Given the description of an element on the screen output the (x, y) to click on. 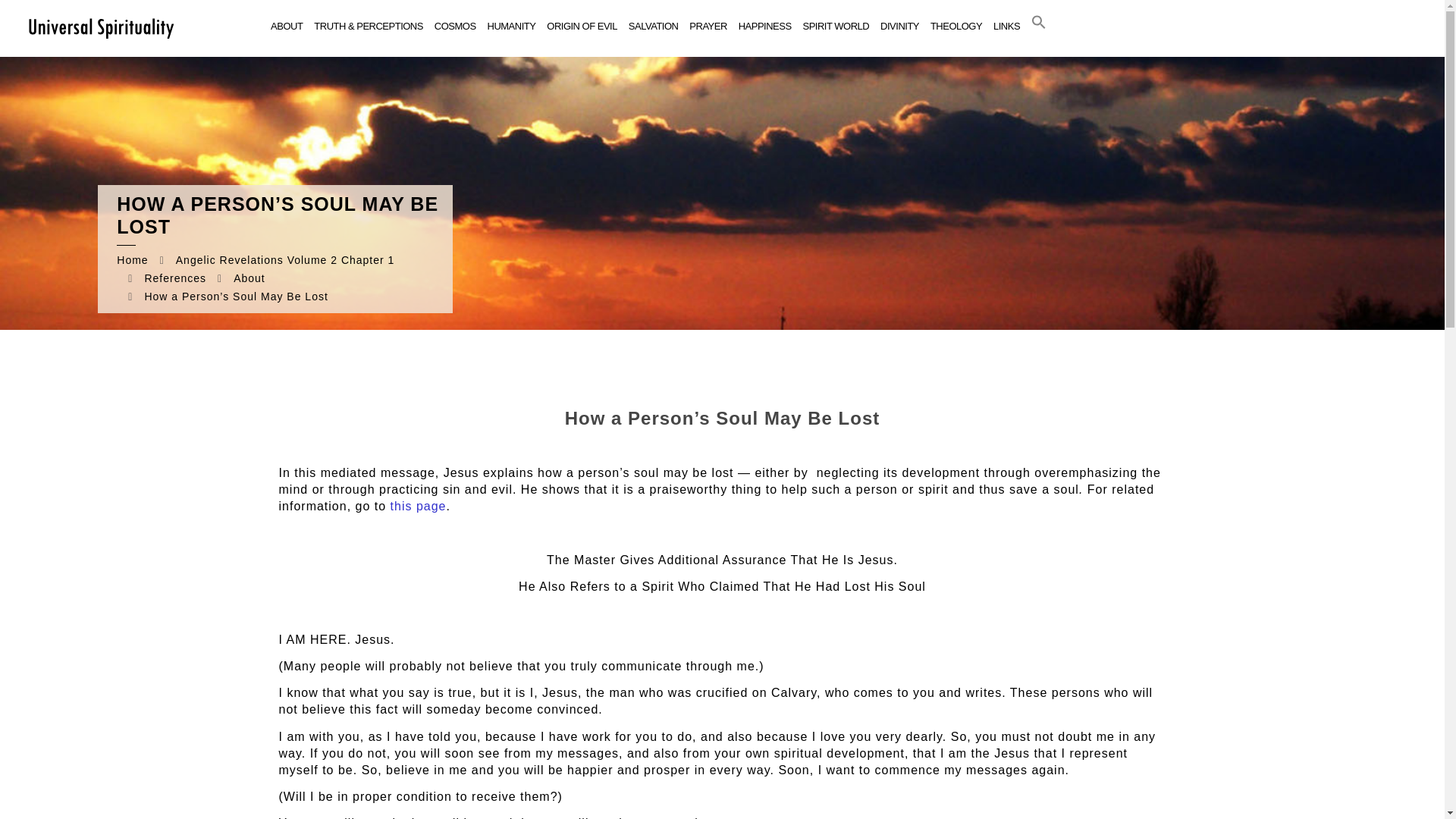
About (248, 277)
References (175, 277)
Angelic Revelations Volume 2 Chapter 1 (285, 259)
My Spiritual Journey (100, 26)
COSMOS (455, 26)
HUMANITY (511, 26)
